Given the description of an element on the screen output the (x, y) to click on. 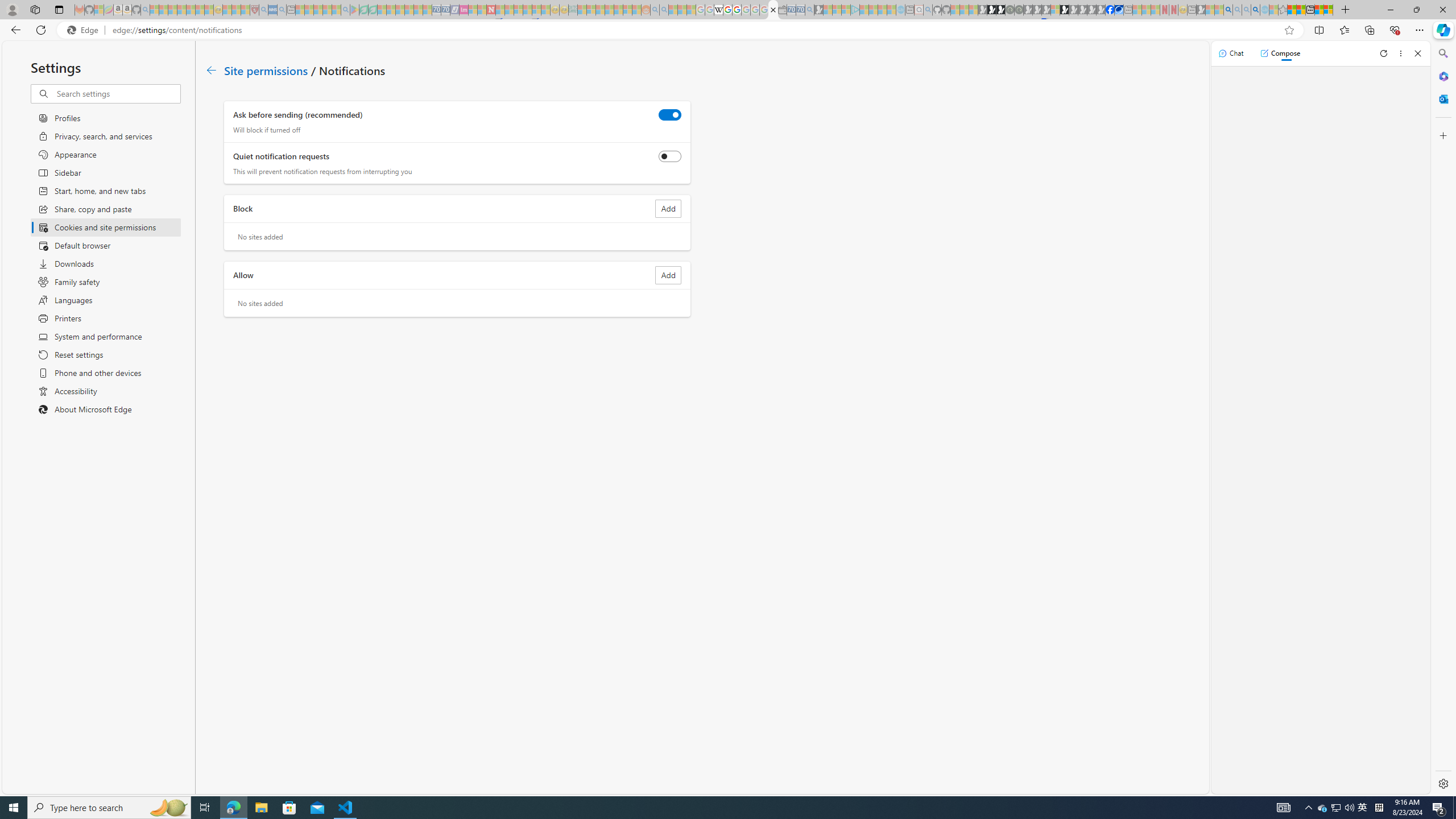
Target page - Wikipedia (718, 9)
Terms of Use Agreement - Sleeping (362, 9)
Microsoft Start - Sleeping (882, 9)
Bing AI - Search (1227, 9)
Close Outlook pane (1442, 98)
MSN - Sleeping (1200, 9)
